Given the description of an element on the screen output the (x, y) to click on. 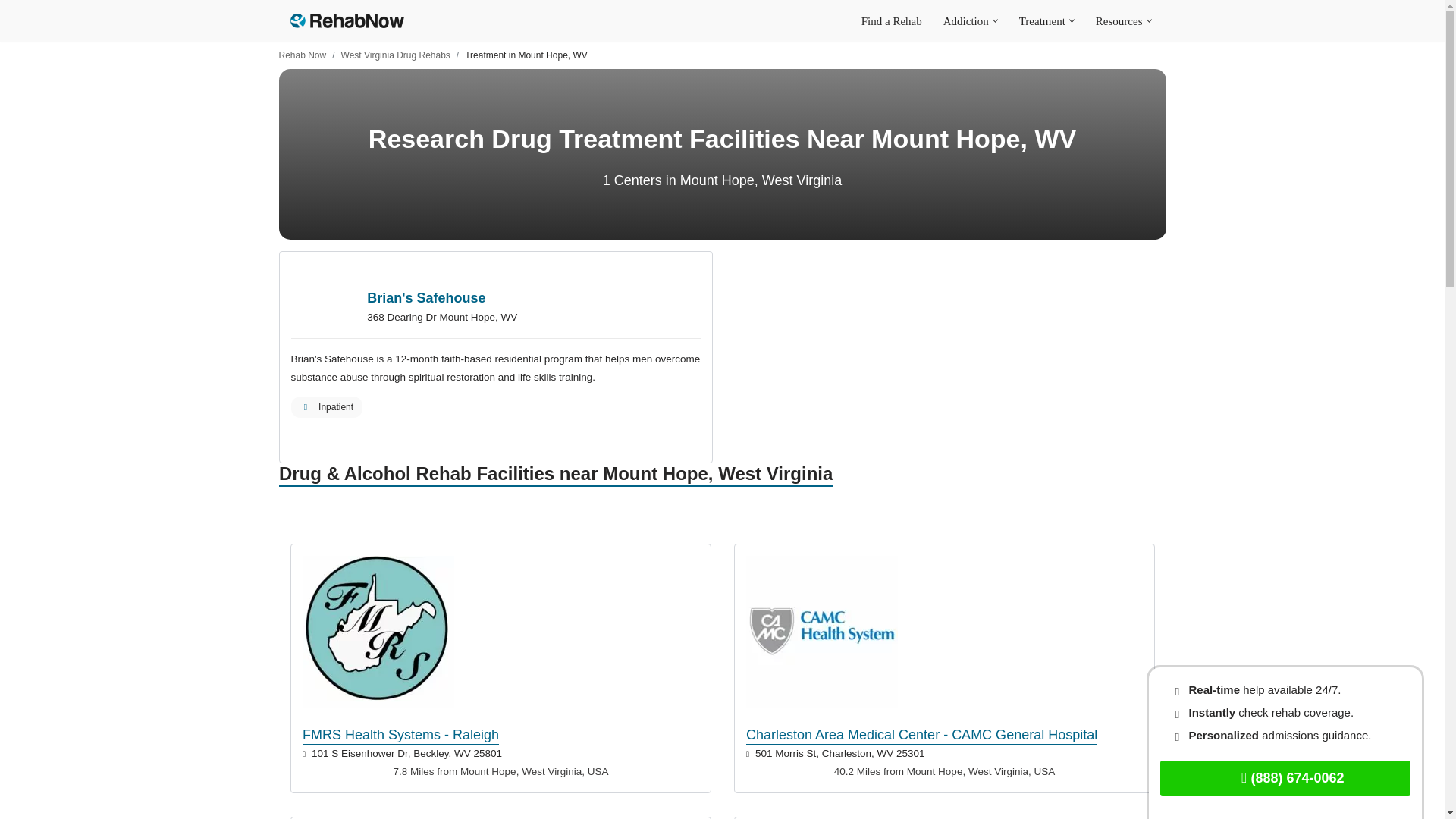
Addiction (965, 20)
Treatment (1042, 20)
Find a Rehab (891, 20)
Skip to content (11, 31)
Resources (1119, 20)
